Given the description of an element on the screen output the (x, y) to click on. 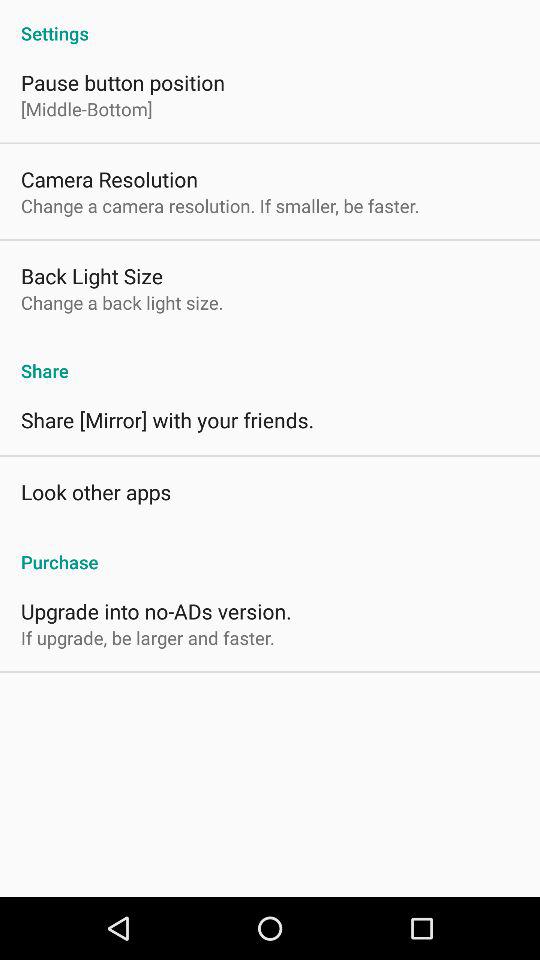
jump to the settings app (270, 22)
